Given the description of an element on the screen output the (x, y) to click on. 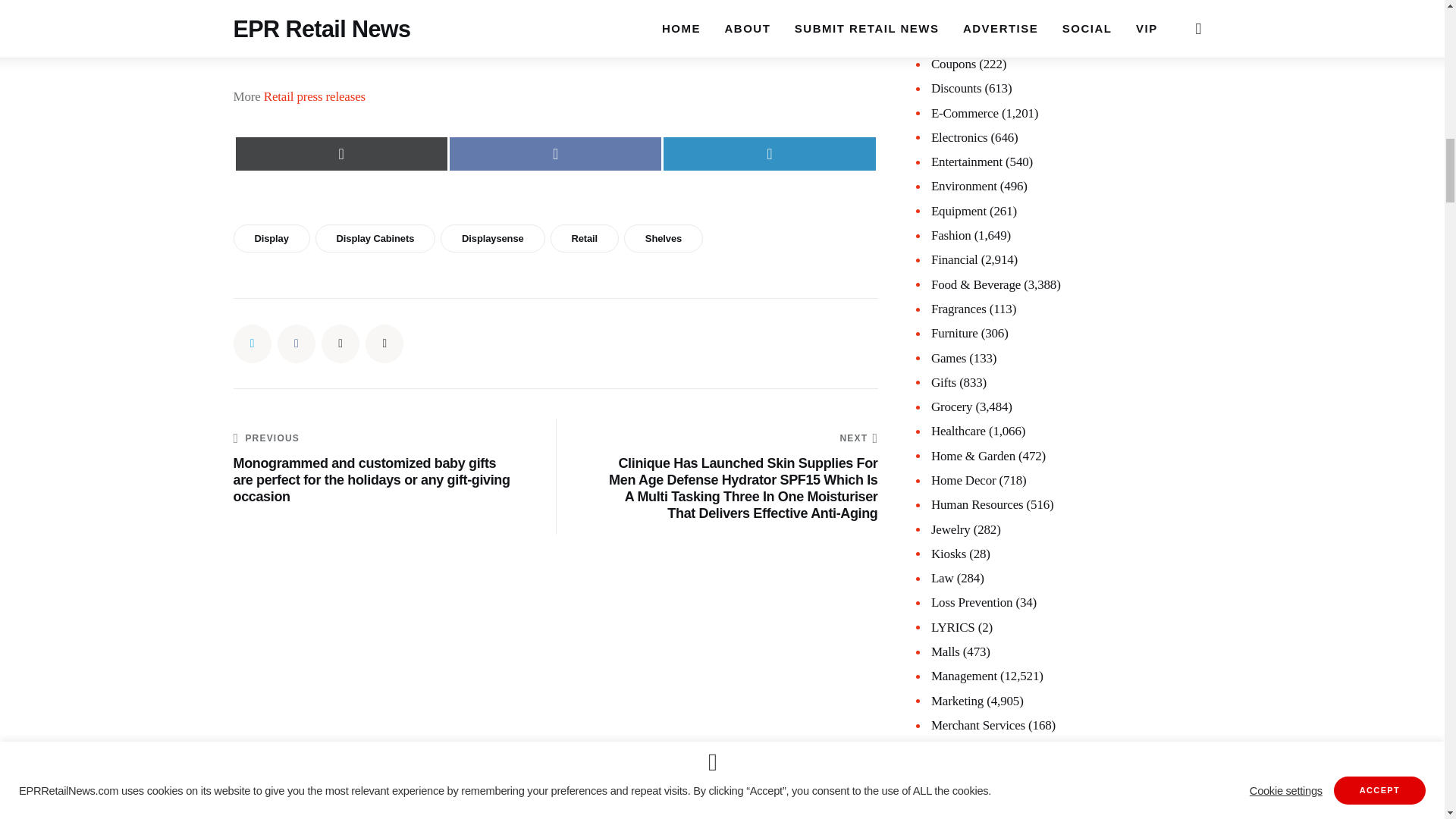
Copy URL to clipboard (384, 343)
